Given the description of an element on the screen output the (x, y) to click on. 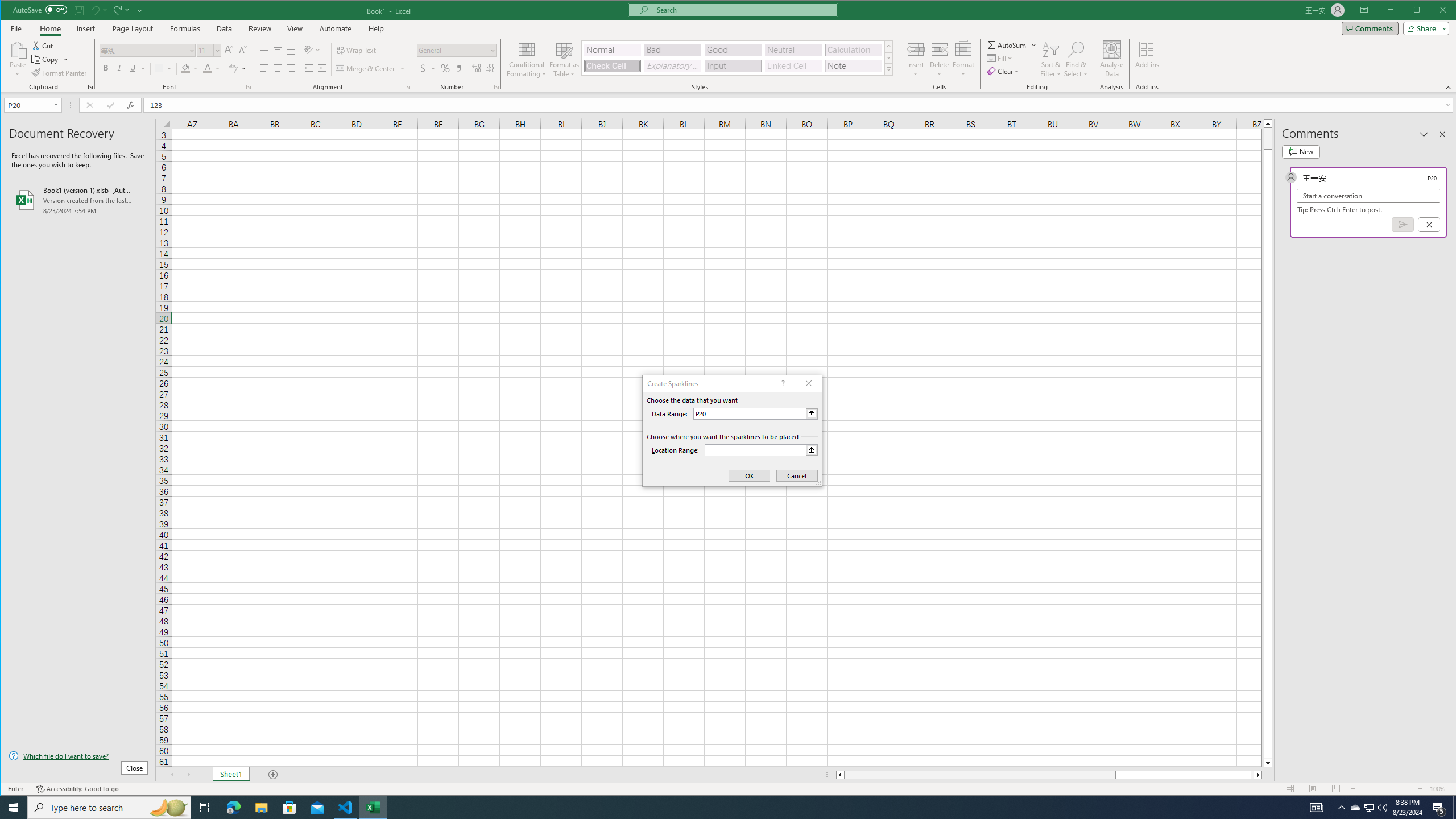
Page left (979, 774)
Font Color RGB(255, 0, 0) (207, 68)
Paste (17, 59)
Which file do I want to save? (78, 755)
Accounting Number Format (427, 68)
Row up (887, 46)
Fill Color (189, 68)
Font (147, 49)
Clear (1004, 70)
Post comment (Ctrl + Enter) (1402, 224)
